Given the description of an element on the screen output the (x, y) to click on. 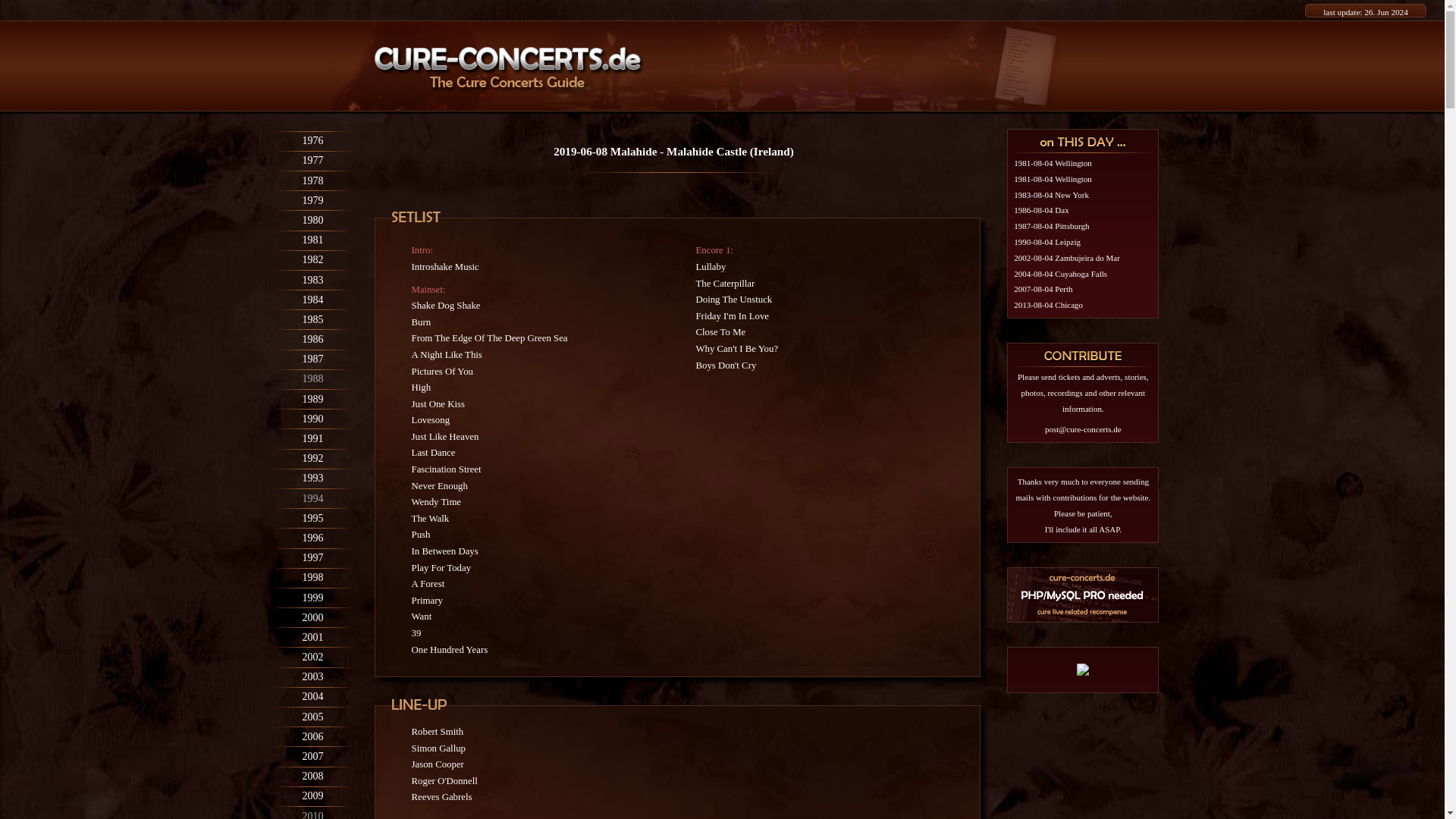
last update: 26. Jun 2024 (1365, 11)
